Given the description of an element on the screen output the (x, y) to click on. 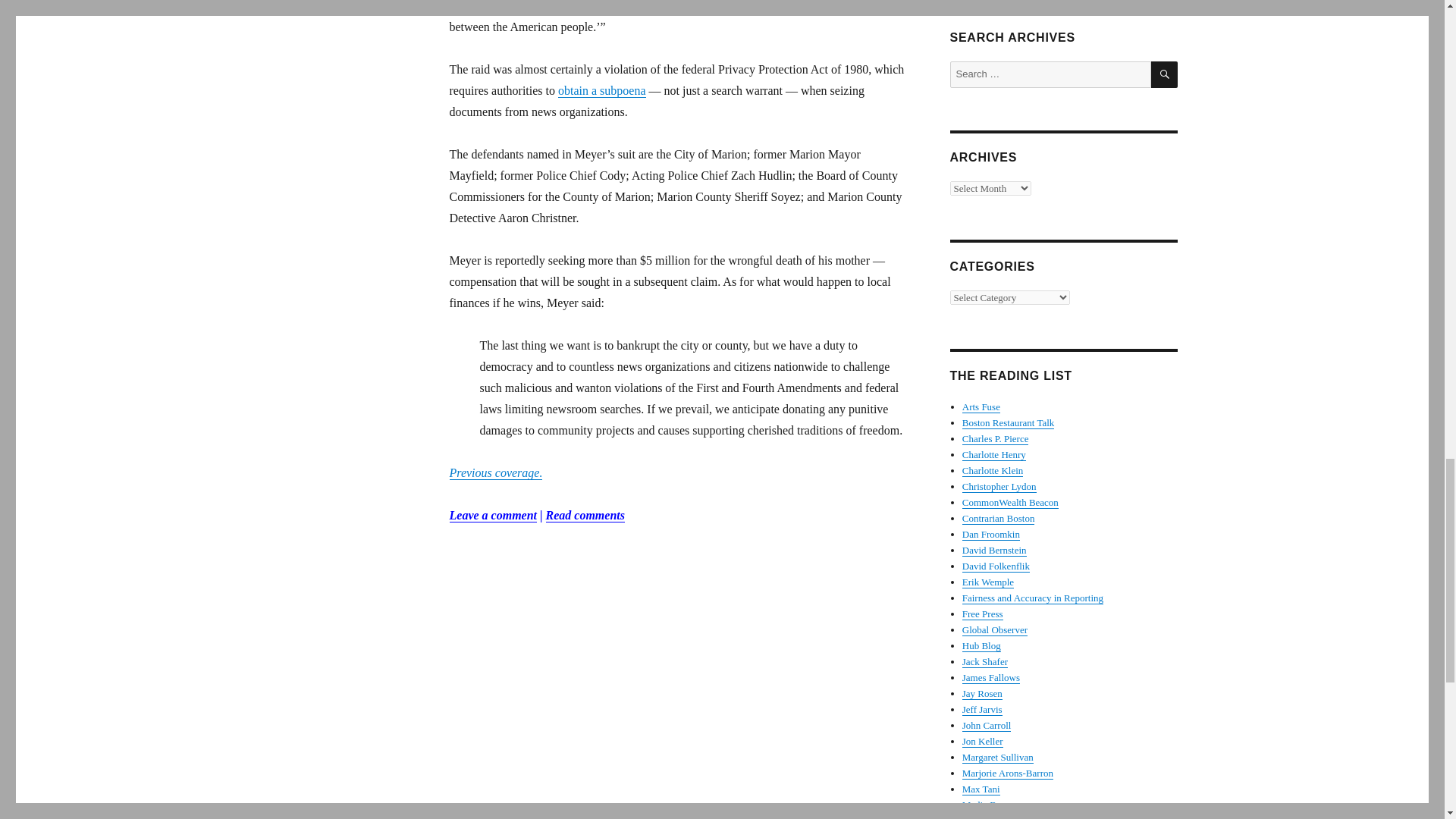
Leave a comment (492, 514)
Read comments (585, 514)
obtain a subpoena (601, 90)
Previous coverage. (494, 472)
